Given the description of an element on the screen output the (x, y) to click on. 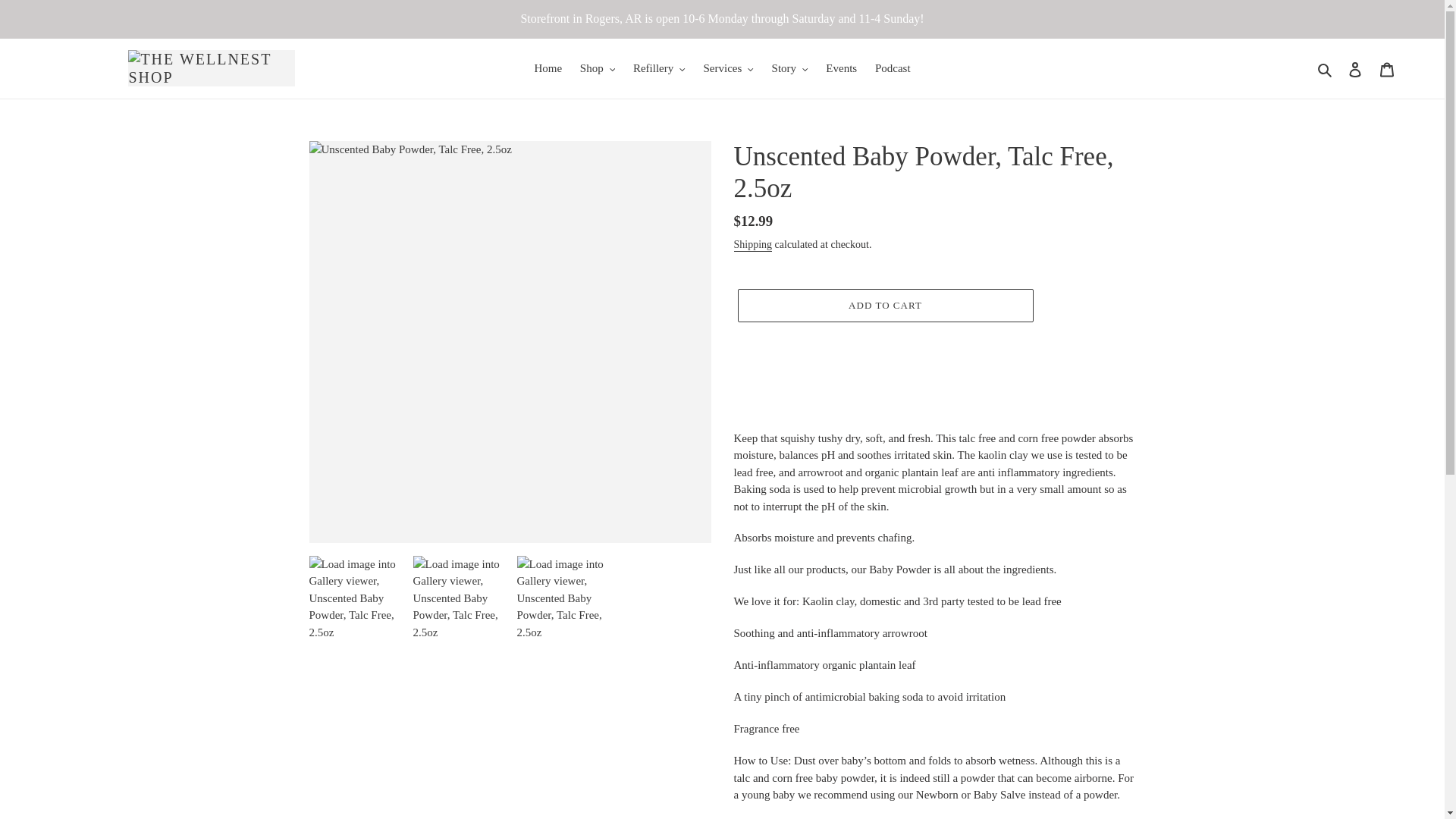
Log in (1355, 68)
Story (789, 68)
Events (841, 68)
Podcast (892, 68)
Services (728, 68)
Refillery (659, 68)
Home (547, 68)
Cart (1387, 68)
Search (1326, 67)
Shop (597, 68)
